Given the description of an element on the screen output the (x, y) to click on. 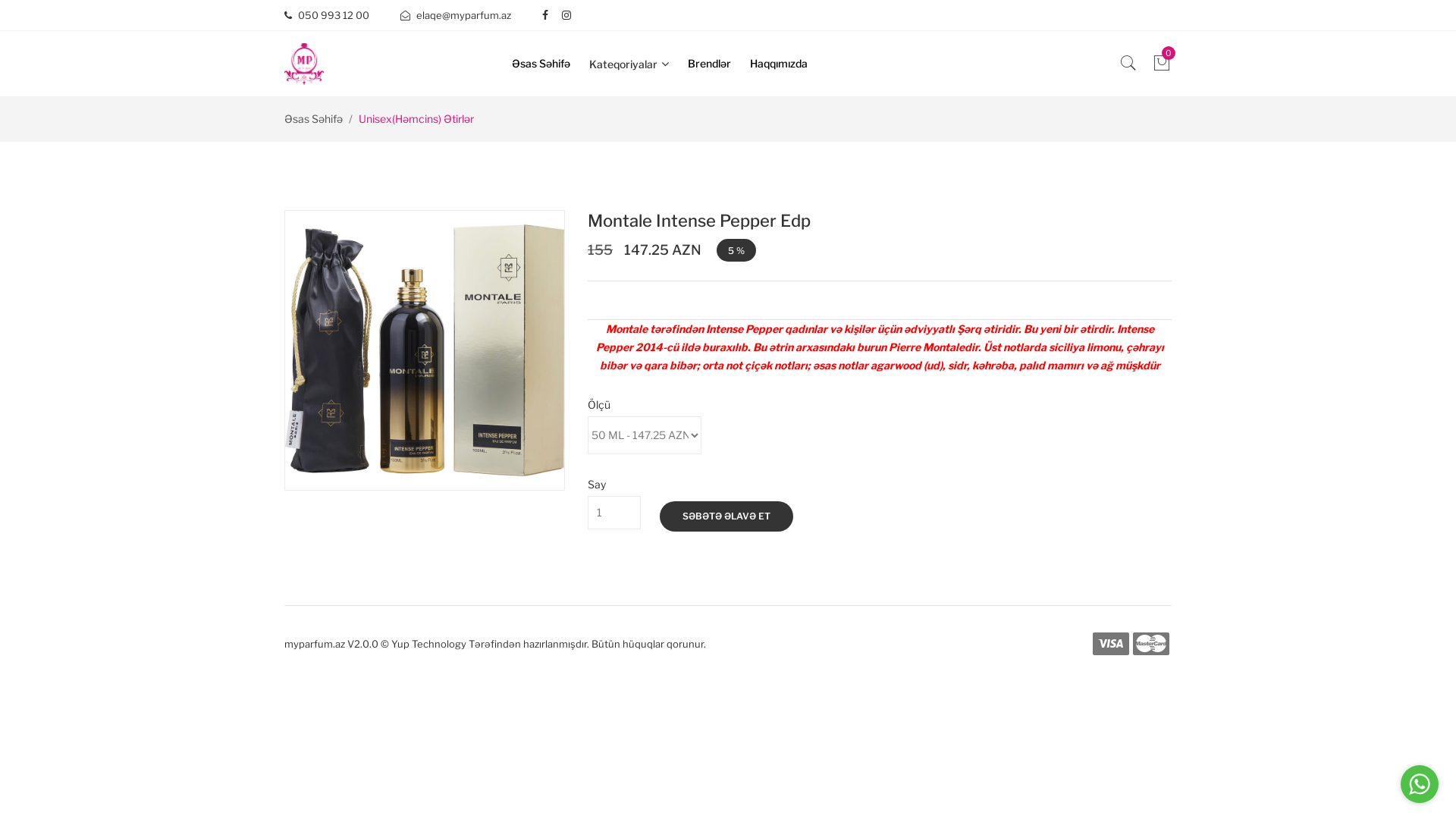
elaqe@myparfum.az Element type: text (455, 15)
Kateqoriyalar Element type: text (636, 63)
Yup Technology Element type: text (428, 643)
050 993 12 00 Element type: text (326, 15)
0 Element type: text (1161, 66)
